Given the description of an element on the screen output the (x, y) to click on. 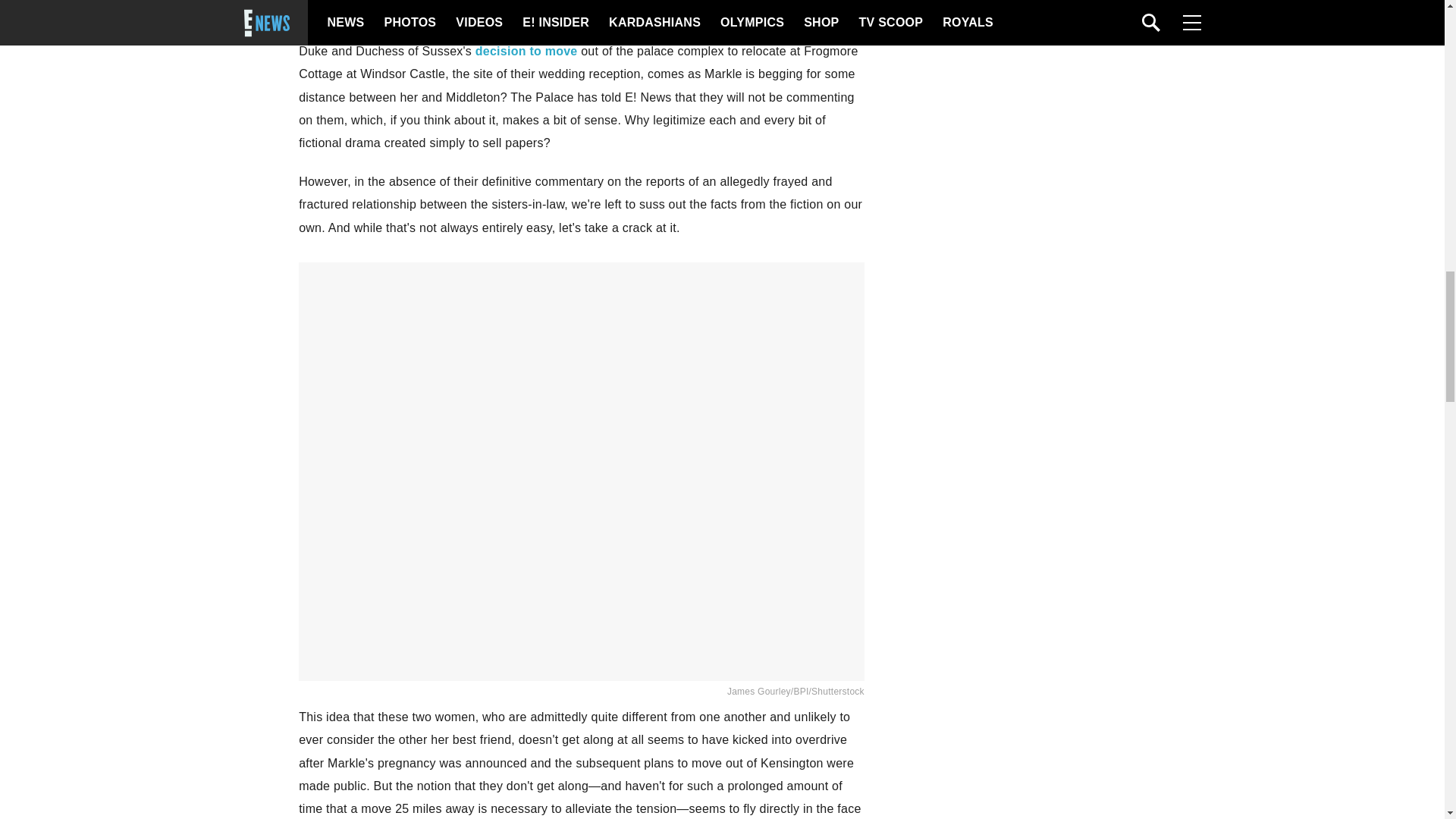
allegation (537, 5)
decision to move (527, 51)
